Given the description of an element on the screen output the (x, y) to click on. 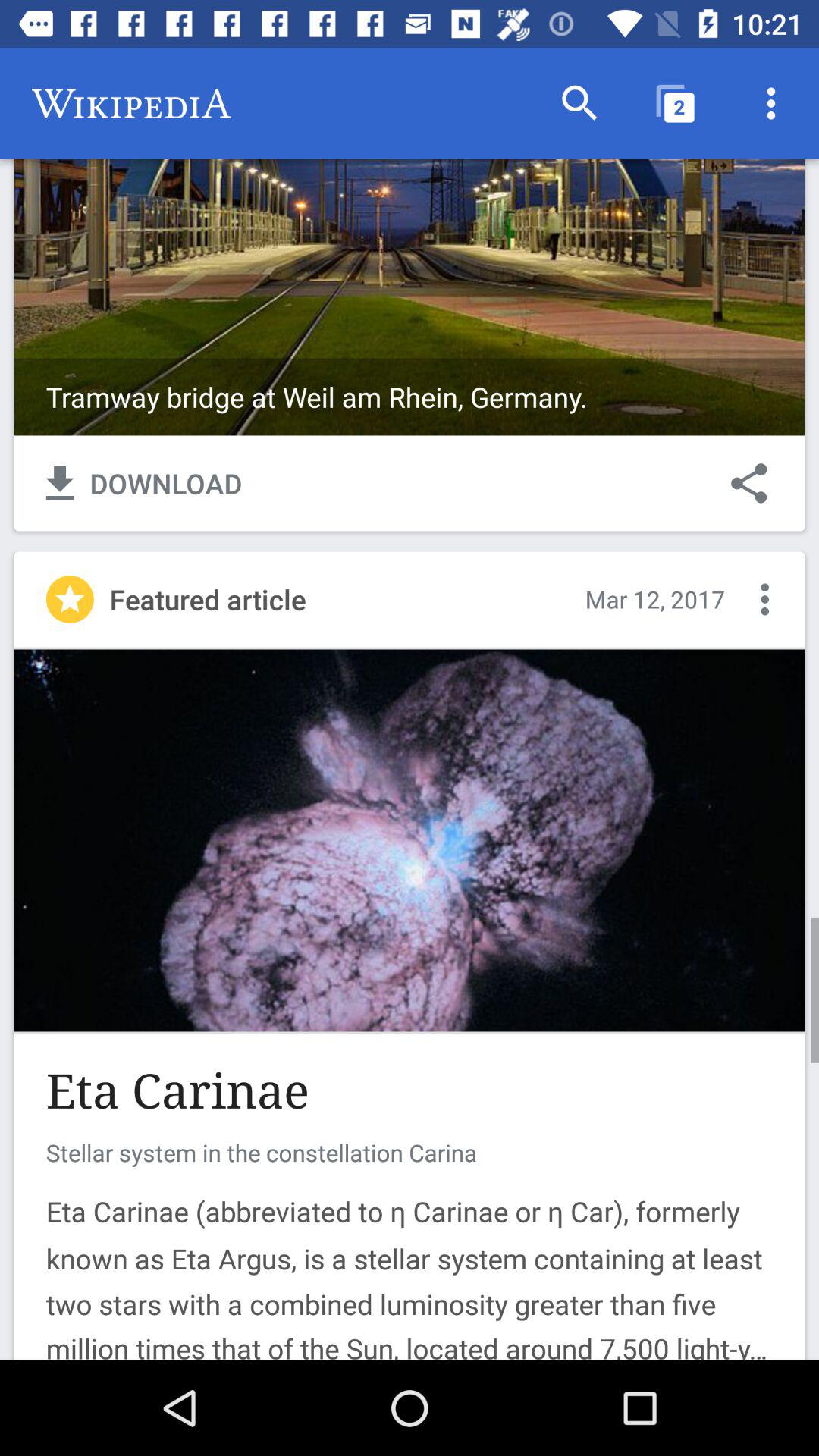
article image (409, 840)
